Given the description of an element on the screen output the (x, y) to click on. 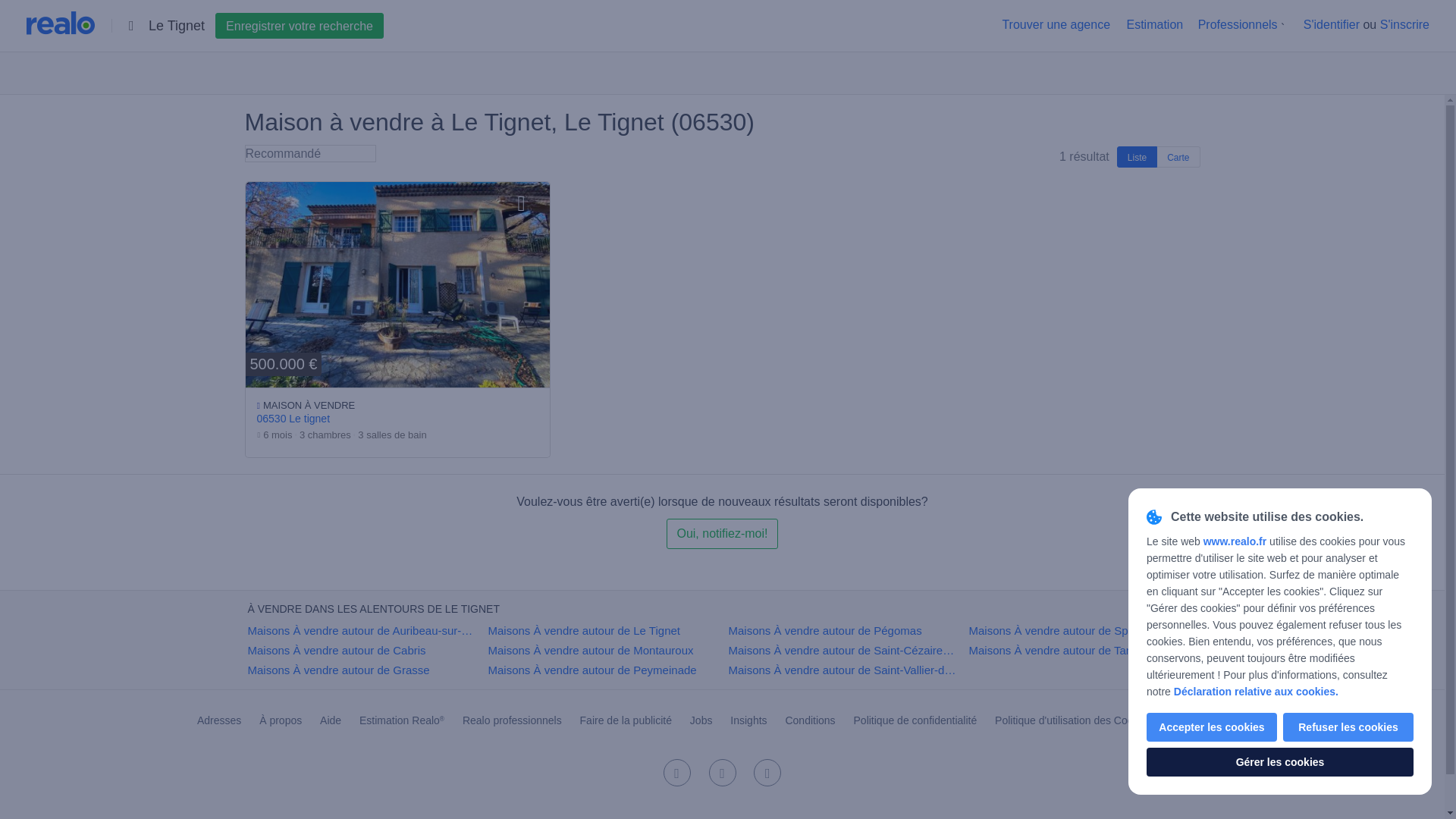
Le Tignet (362, 25)
Professionnels (1238, 24)
Trouver une agence (1055, 24)
Estimation (1153, 24)
Realo (60, 23)
Le Tignet (362, 25)
